Given the description of an element on the screen output the (x, y) to click on. 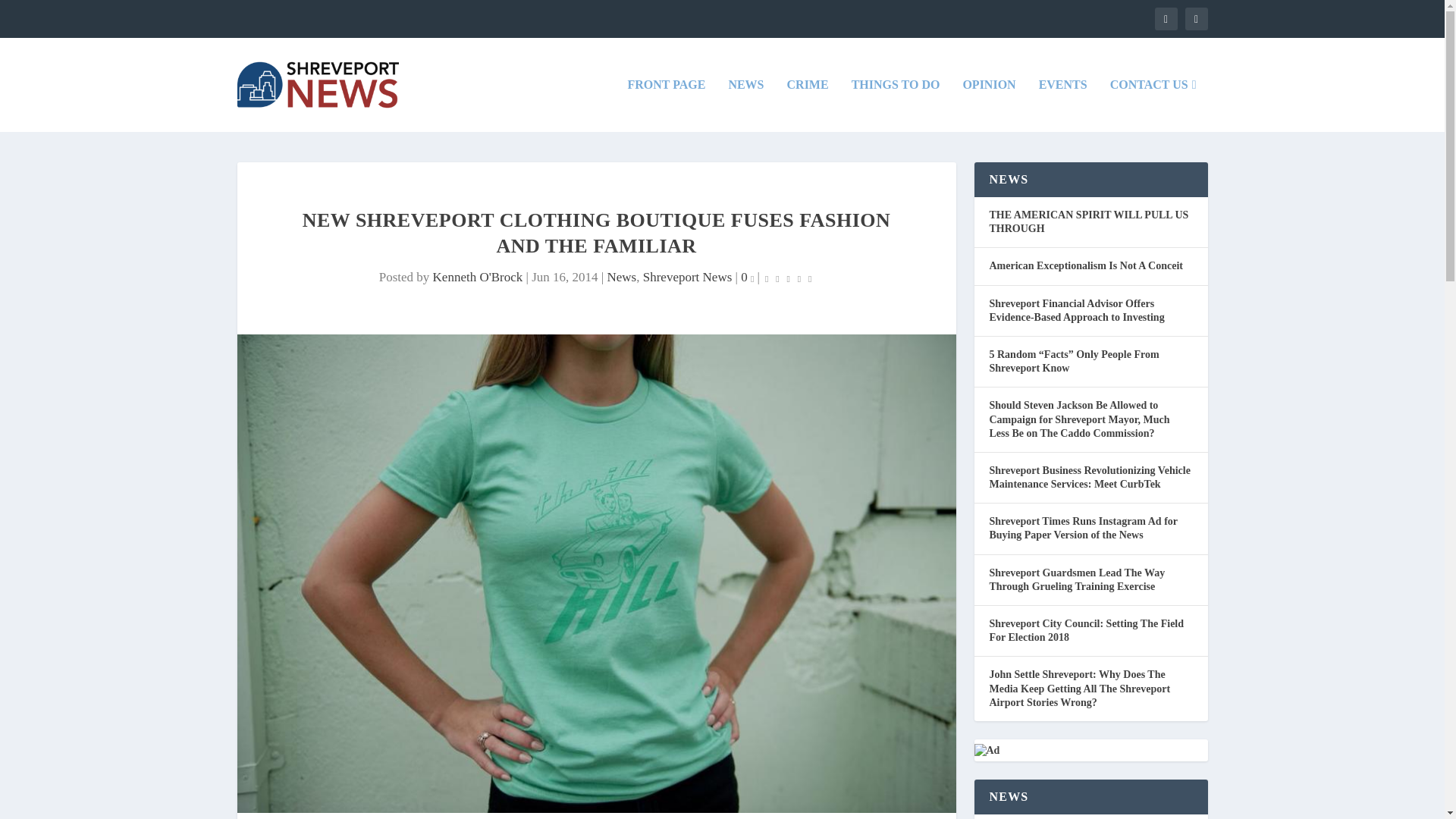
Shreveport News (687, 277)
American Exceptionalism Is Not A Conceit (1085, 265)
OPINION (988, 104)
News (622, 277)
0 (747, 277)
CONTACT US (1152, 104)
THE AMERICAN SPIRIT WILL PULL US THROUGH (1088, 221)
FRONT PAGE (665, 104)
Posts by Kenneth O'Brock (477, 277)
Rating: 0.00 (787, 277)
EVENTS (1063, 104)
Kenneth O'Brock (477, 277)
THINGS TO DO (895, 104)
